Given the description of an element on the screen output the (x, y) to click on. 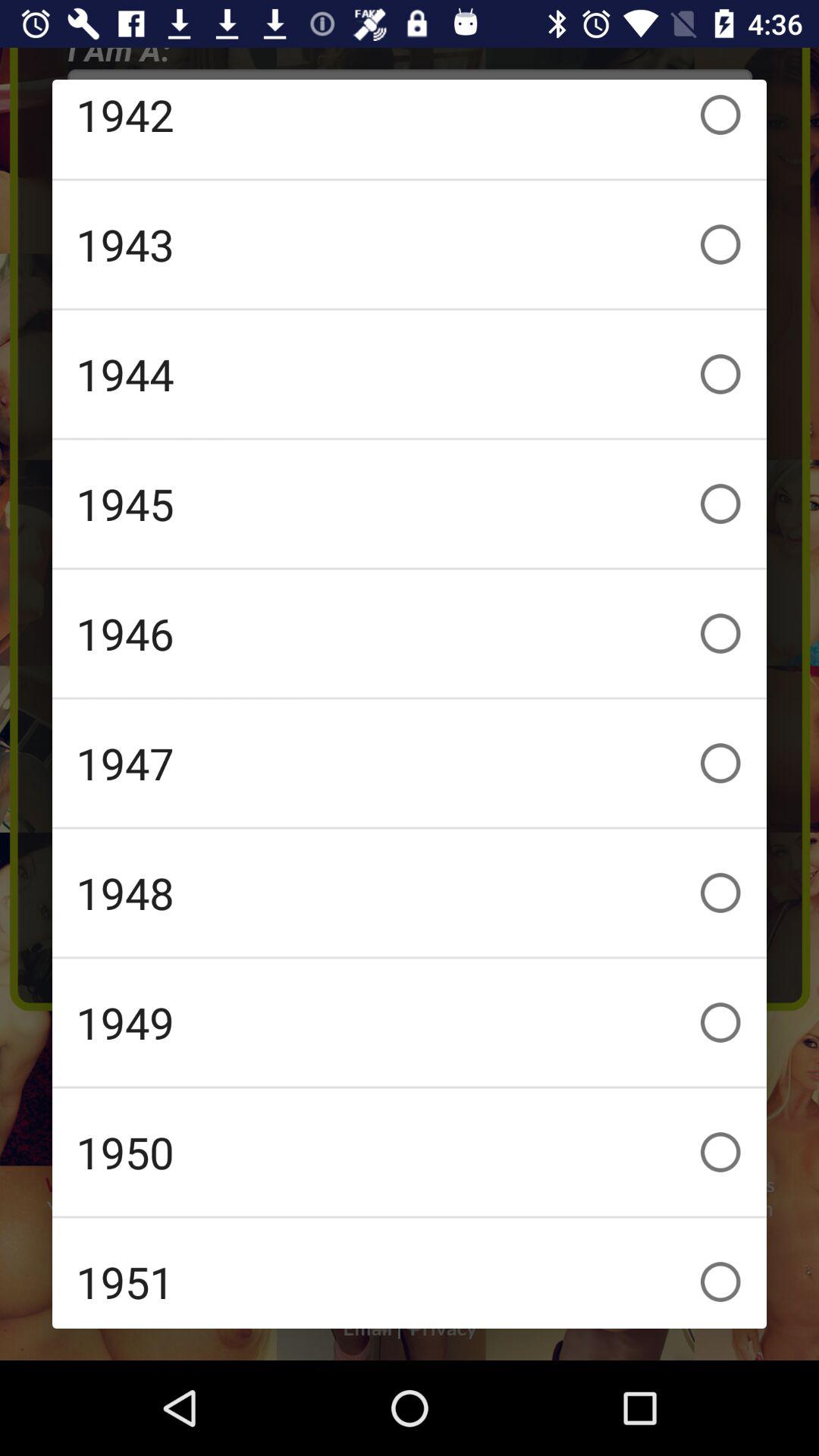
choose item above 1950 icon (409, 1022)
